Given the description of an element on the screen output the (x, y) to click on. 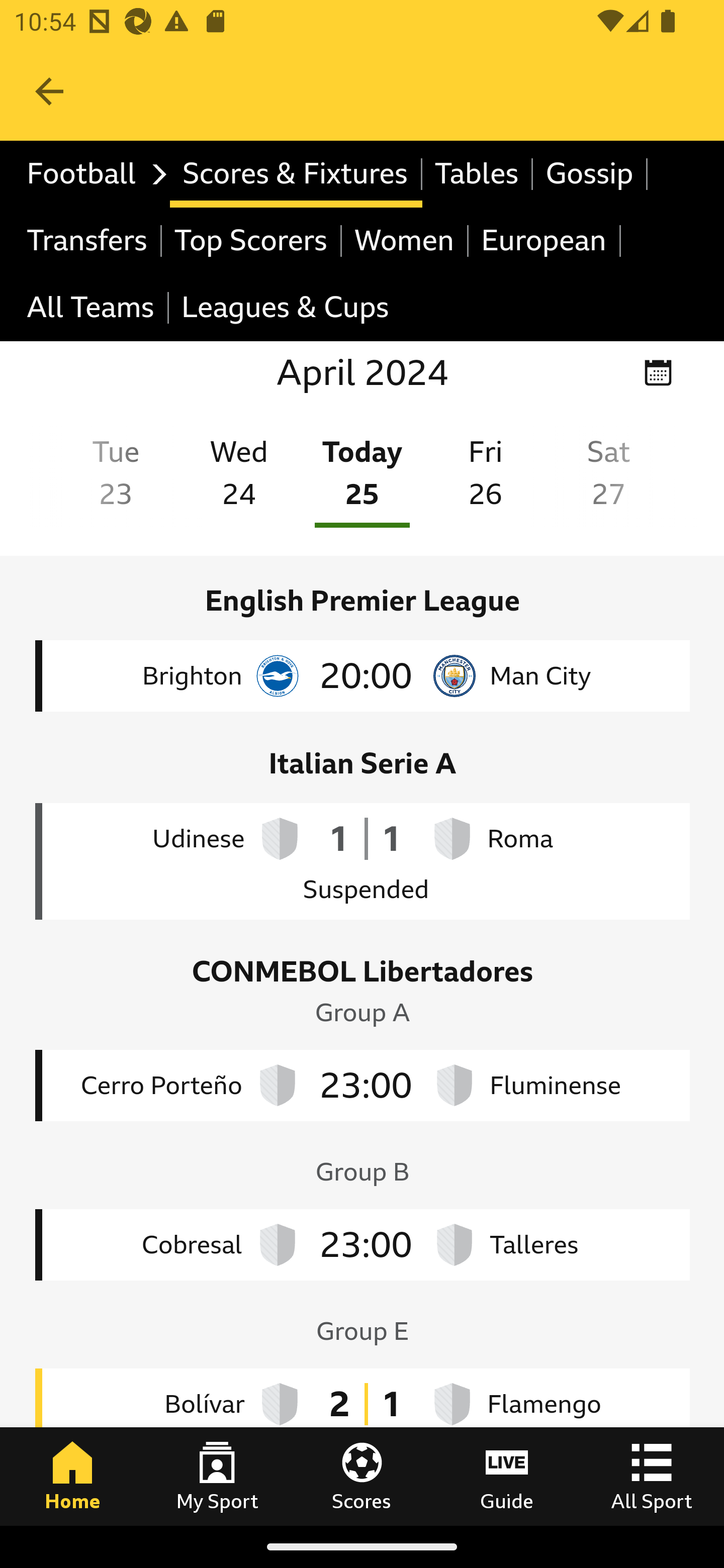
Navigate up (49, 91)
Football (91, 173)
Scores & Fixtures (295, 173)
Tables (477, 173)
Gossip (590, 173)
Transfers (88, 240)
Top Scorers (251, 240)
Women (405, 240)
European (544, 240)
All Teams (91, 308)
Leagues & Cups (284, 308)
My Sport (216, 1475)
Scores (361, 1475)
Guide (506, 1475)
All Sport (651, 1475)
